Given the description of an element on the screen output the (x, y) to click on. 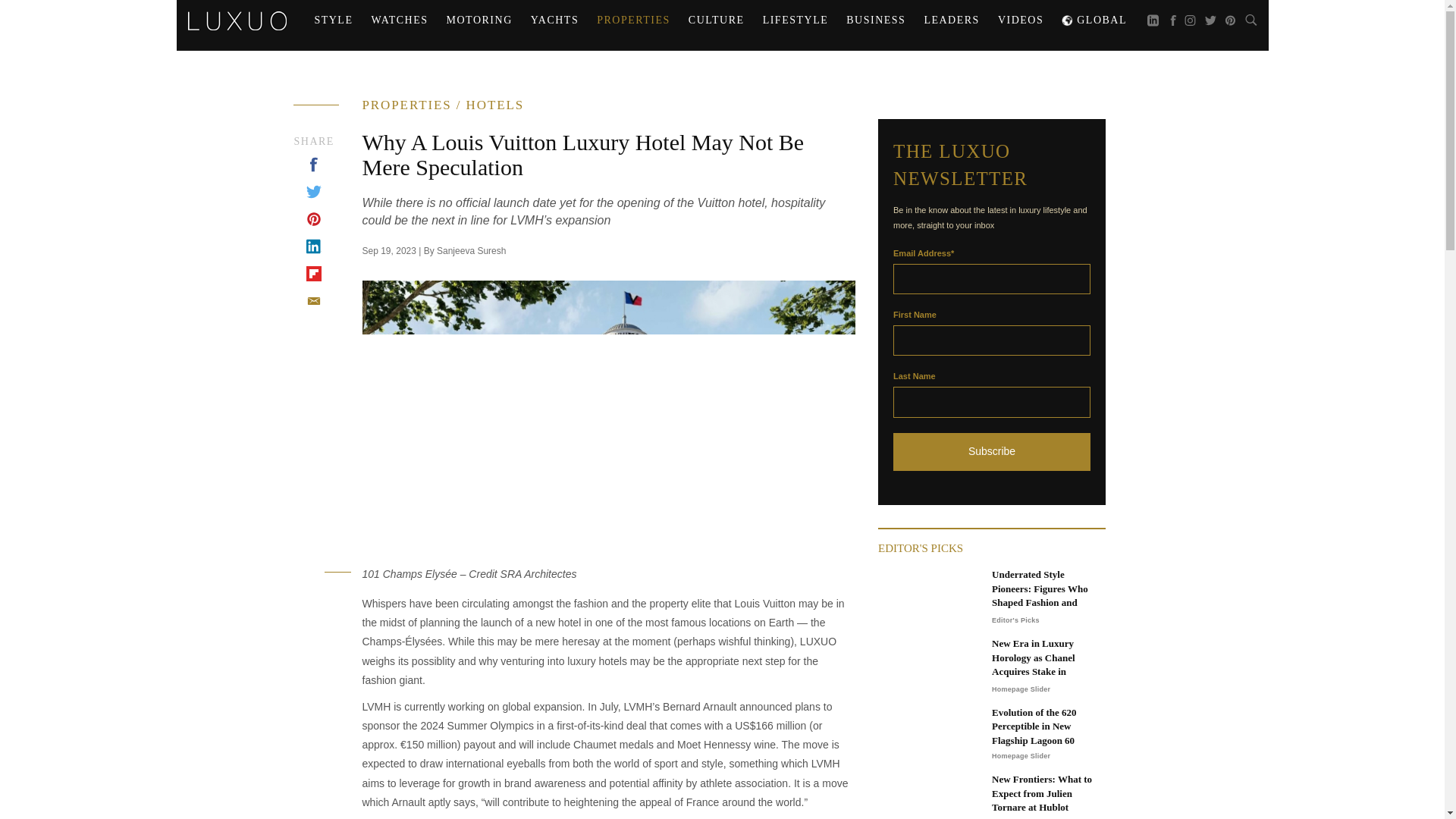
LUXUO - The Luxury Lifestyle Portal (236, 20)
STYLE (332, 20)
LUXUO - The Luxury Lifestyle Portal (236, 18)
MOTORING (479, 20)
WATCHES (398, 20)
YACHTS (554, 20)
PROPERTIES (633, 20)
Subscribe (991, 451)
